Given the description of an element on the screen output the (x, y) to click on. 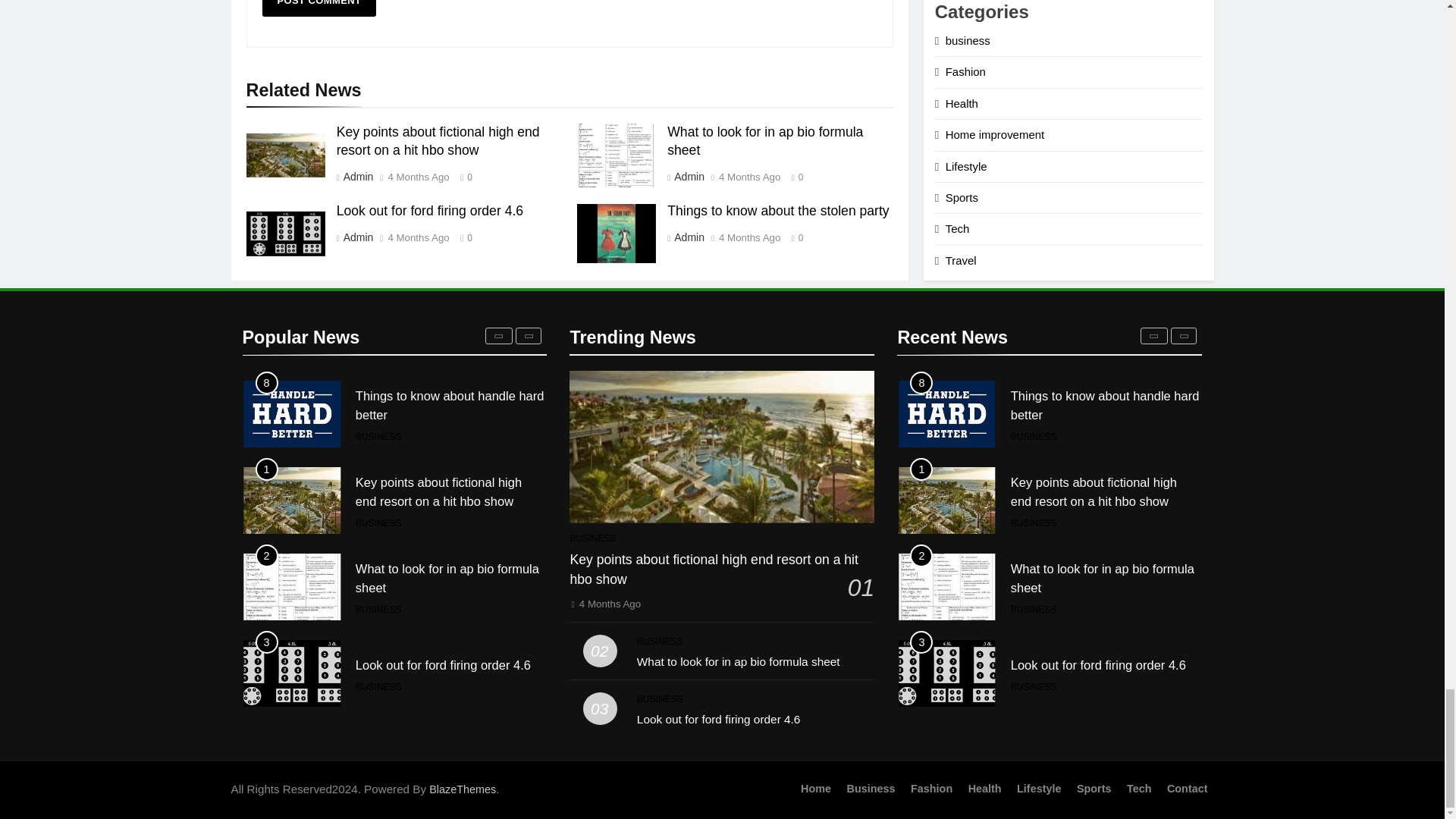
Post Comment (319, 8)
